Given the description of an element on the screen output the (x, y) to click on. 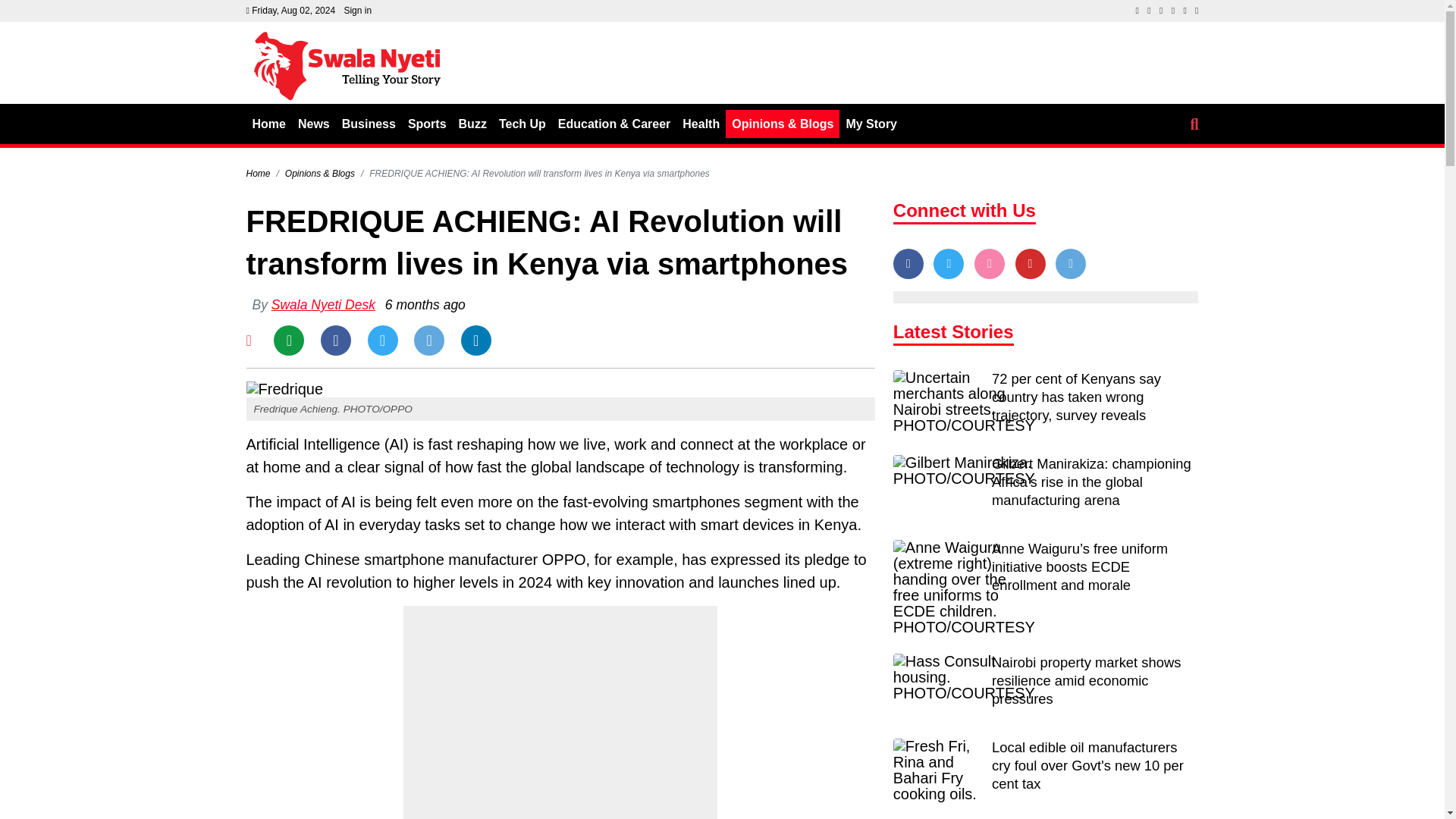
Business (368, 123)
Tech Up (522, 123)
Swala Nyeti Desk (322, 304)
Health (701, 123)
Share via Twitter (381, 340)
Share via Telegram (428, 340)
Home (257, 173)
My Story (871, 123)
Share via Whatsapp (288, 340)
Share via Facebook (335, 340)
